Given the description of an element on the screen output the (x, y) to click on. 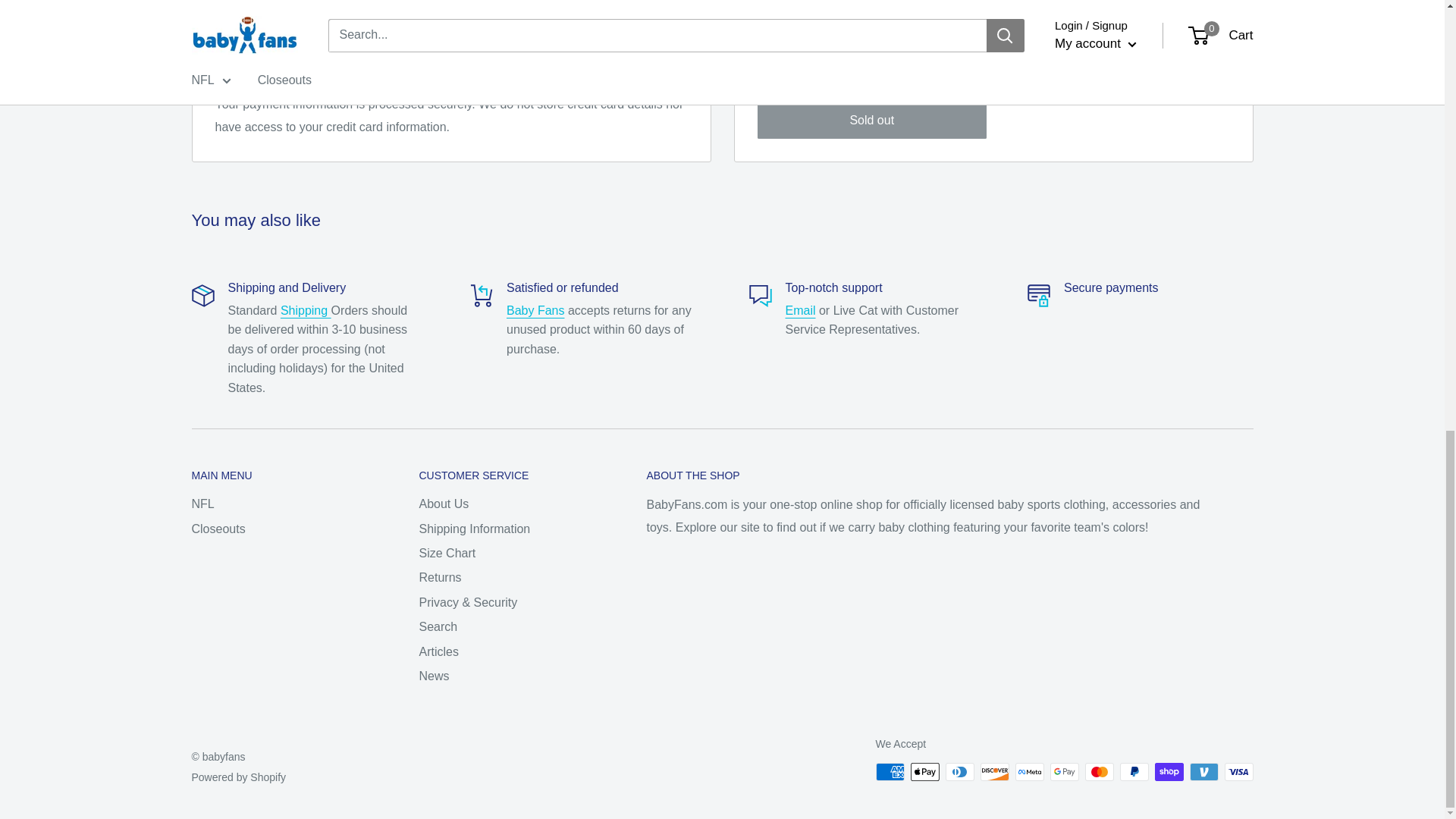
Shipping Policy (306, 309)
Contact Us (800, 309)
Returns (535, 309)
